Given the description of an element on the screen output the (x, y) to click on. 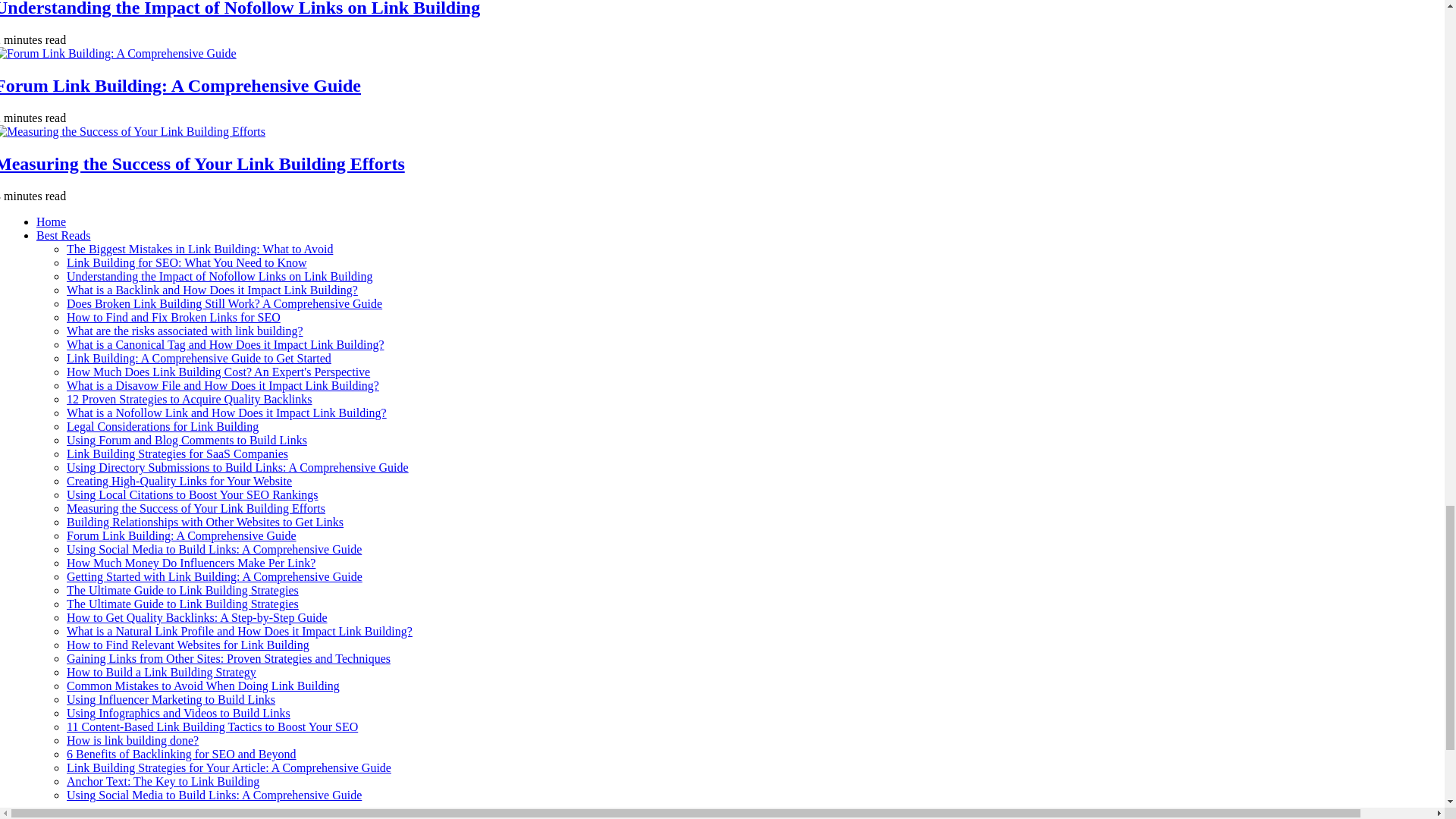
The Biggest Mistakes in Link Building: What to Avoid (199, 248)
Understanding the Impact of Nofollow Links on Link Building (240, 8)
Measuring the Success of Your Link Building Efforts (202, 163)
Forum Link Building: A Comprehensive Guide (180, 85)
Understanding the Impact of Nofollow Links on Link Building (219, 276)
Best Reads (63, 235)
Link Building for SEO: What You Need to Know (186, 262)
What is a Backlink and How Does it Impact Link Building? (212, 289)
Home (50, 221)
